Given the description of an element on the screen output the (x, y) to click on. 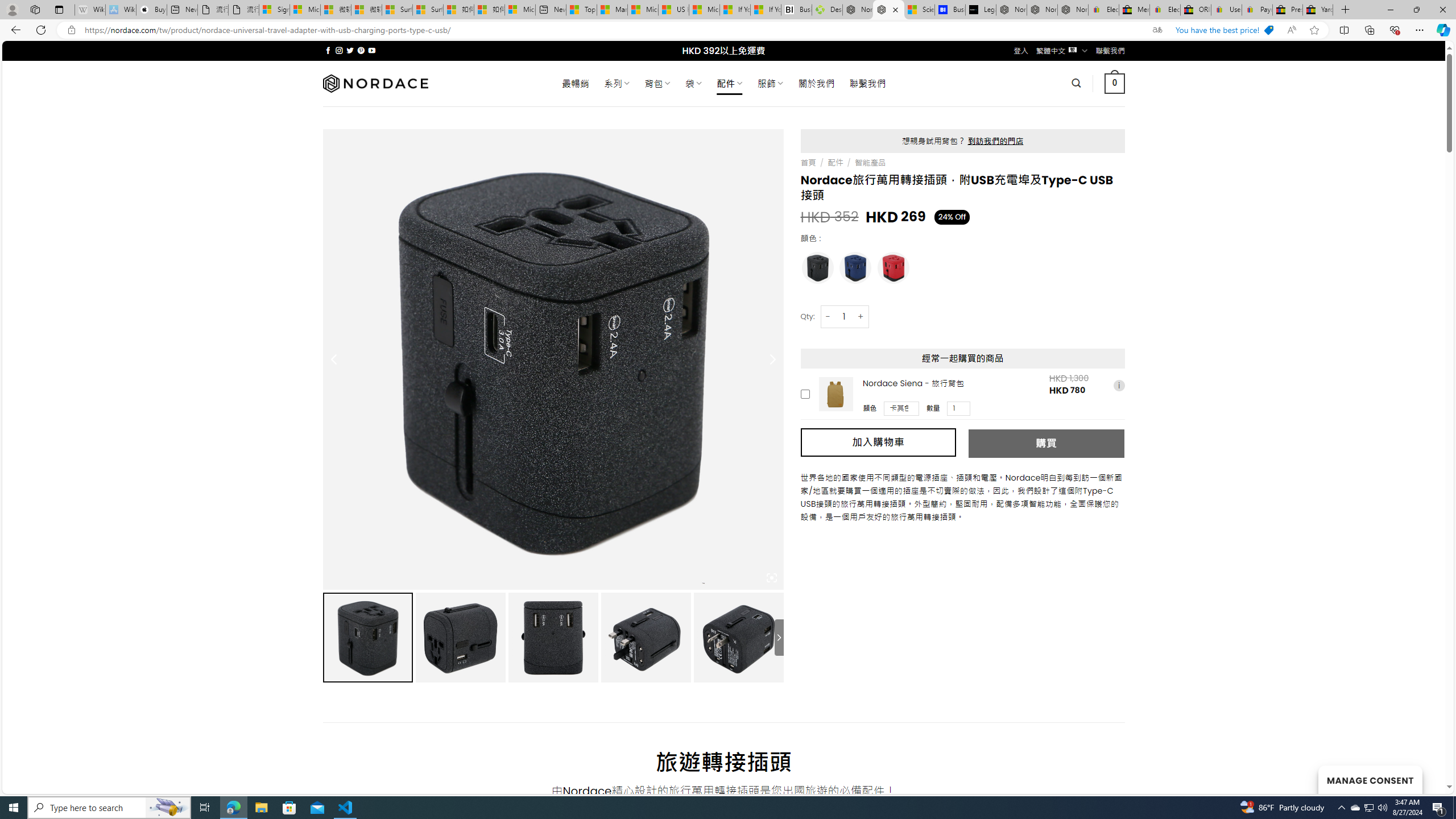
Yard, Garden & Outdoor Living (1317, 9)
Sign in to your Microsoft account (274, 9)
